Given the description of an element on the screen output the (x, y) to click on. 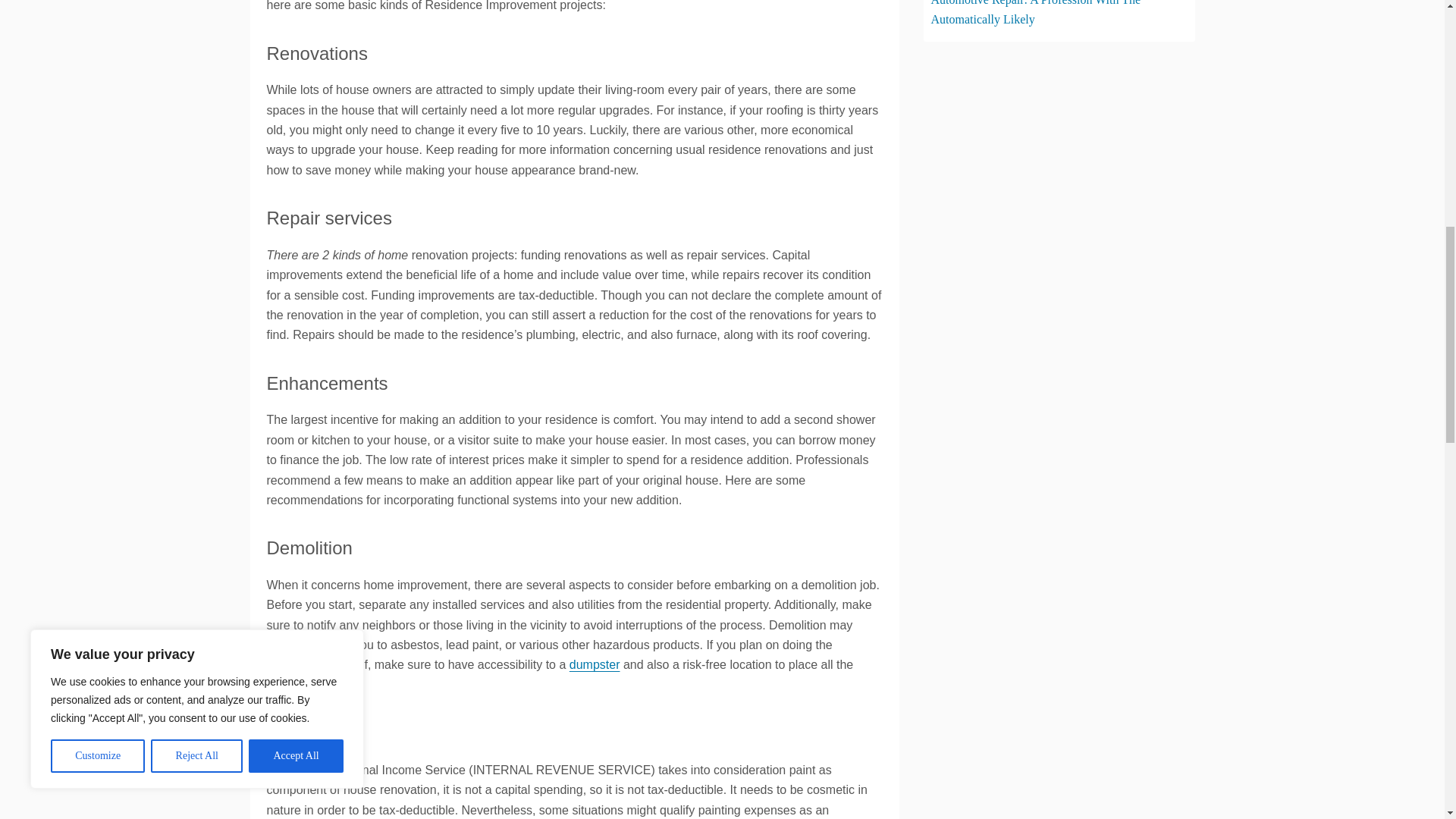
dumpster (594, 664)
